Given the description of an element on the screen output the (x, y) to click on. 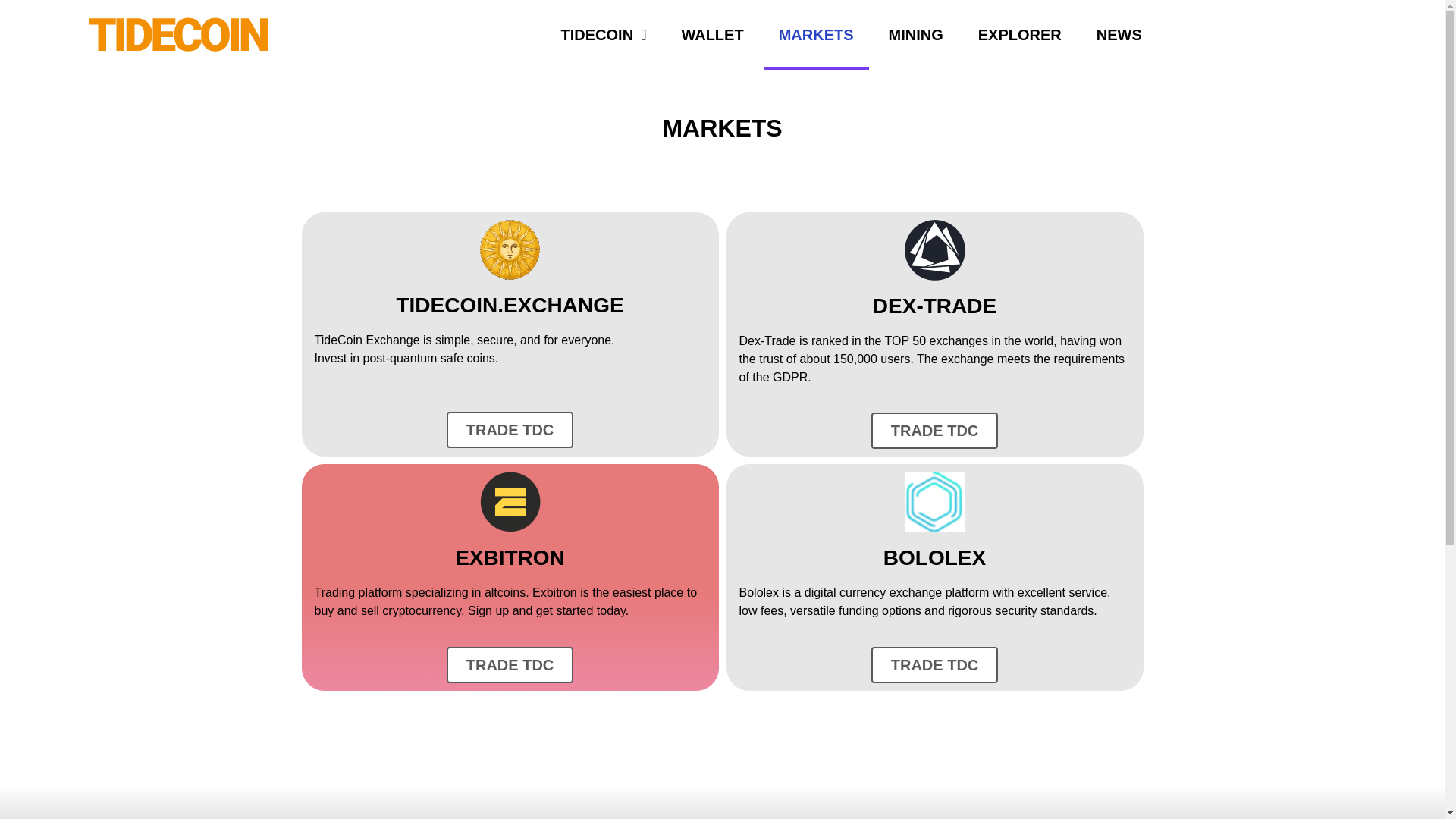
TIDECOIN (604, 34)
EXPLORER (1019, 34)
MARKETS (815, 34)
WALLET (711, 34)
NEWS (1119, 34)
bololex-exchange (933, 501)
dex-exchange (933, 250)
MINING (915, 34)
exbitron-icon (509, 501)
